Given the description of an element on the screen output the (x, y) to click on. 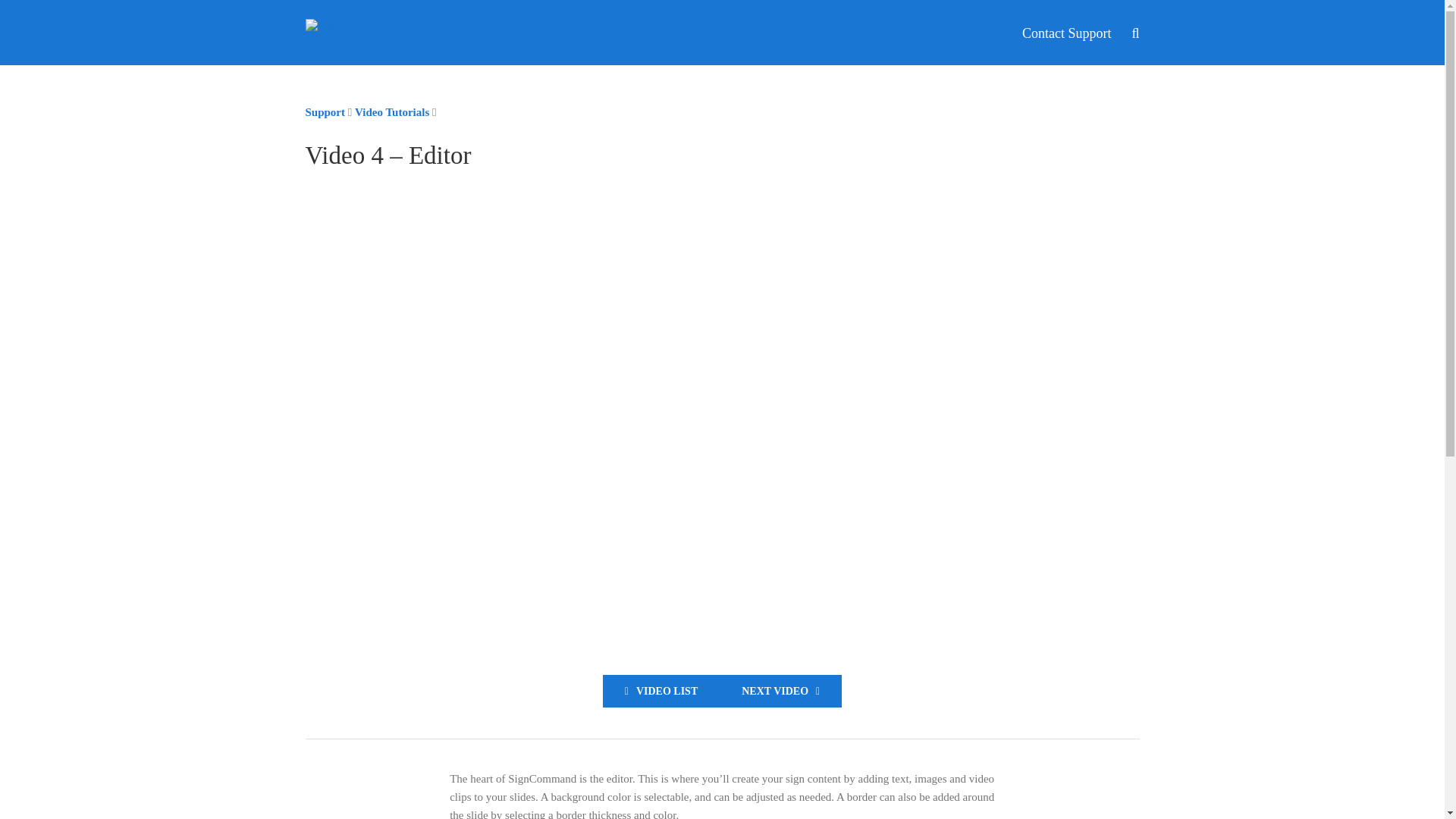
Contact Support (1067, 32)
Support (324, 111)
NEXT VIDEO (780, 690)
Video Tutorials (392, 111)
VIDEO LIST (660, 690)
